Given the description of an element on the screen output the (x, y) to click on. 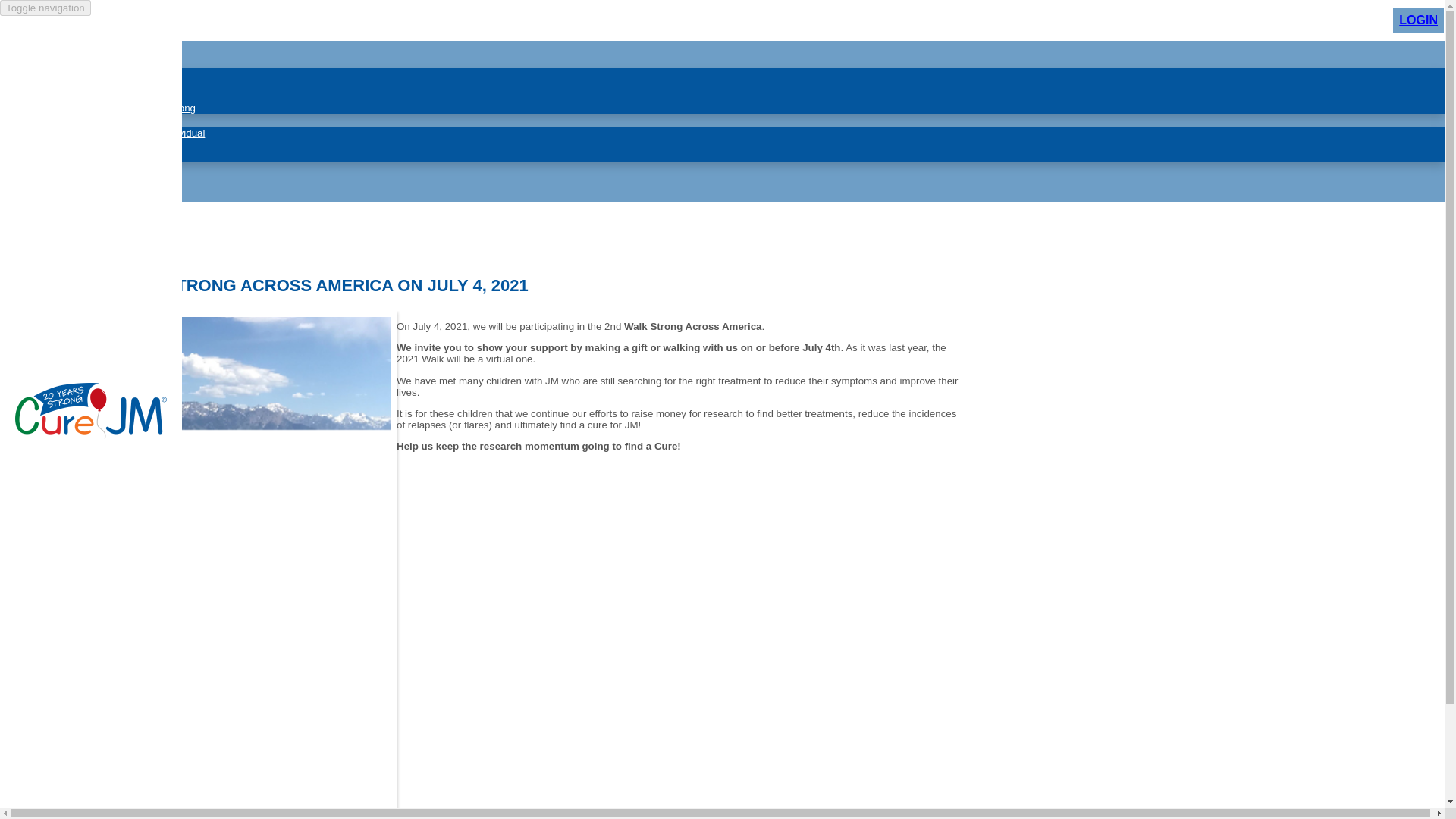
Participant Guide Walk Strong (128, 107)
VOLUNTEERS (71, 181)
EVENT INFO (66, 60)
DONATE (55, 119)
Donate in Honor of a Team (120, 143)
Sponsor Flyer (92, 96)
LOGIN (1418, 20)
Donate in Honor of an Individual (133, 132)
SPONSORS (64, 167)
Cure JM Foundation (90, 434)
